Given the description of an element on the screen output the (x, y) to click on. 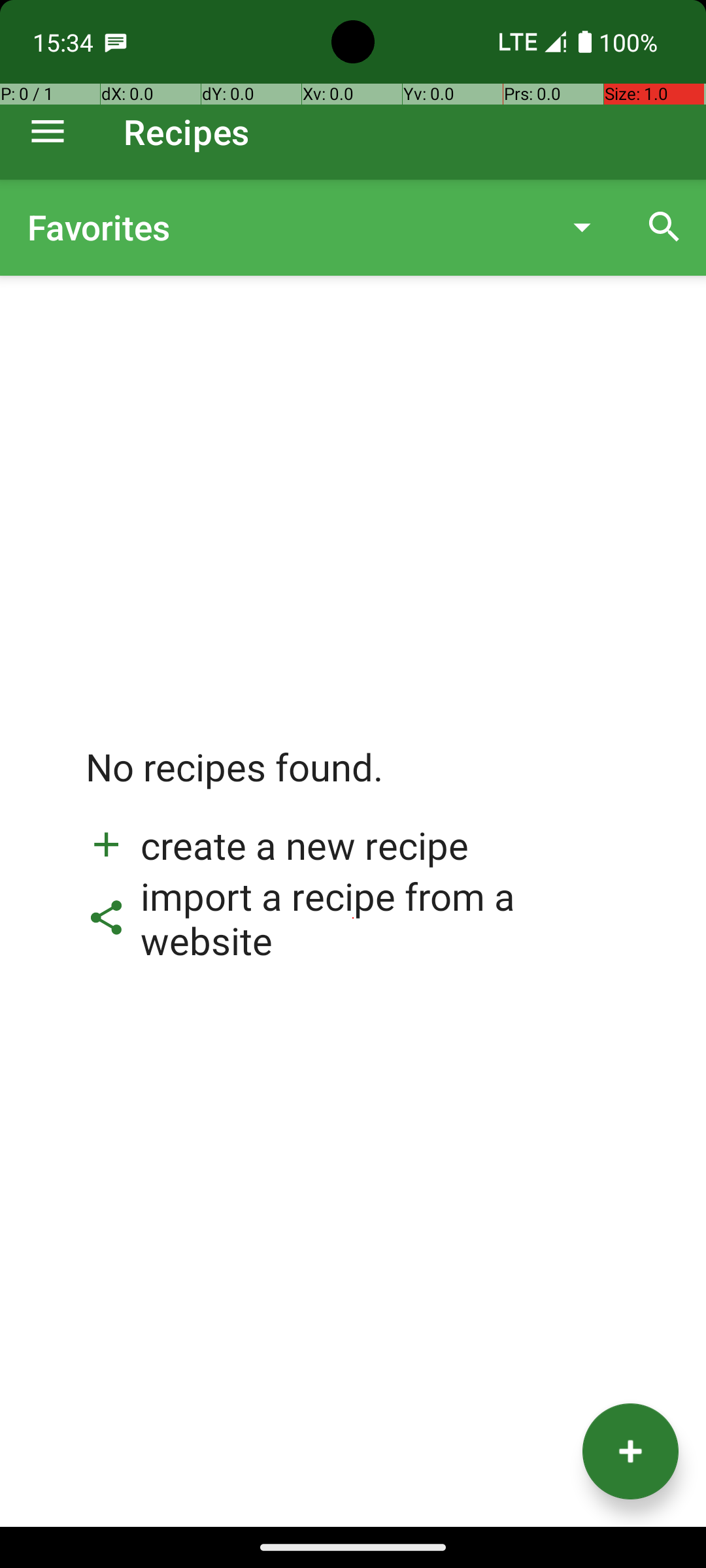
No recipes found. Element type: android.widget.TextView (234, 779)
create a new recipe Element type: android.widget.TextView (276, 844)
import a recipe from a website Element type: android.widget.TextView (352, 917)
